Given the description of an element on the screen output the (x, y) to click on. 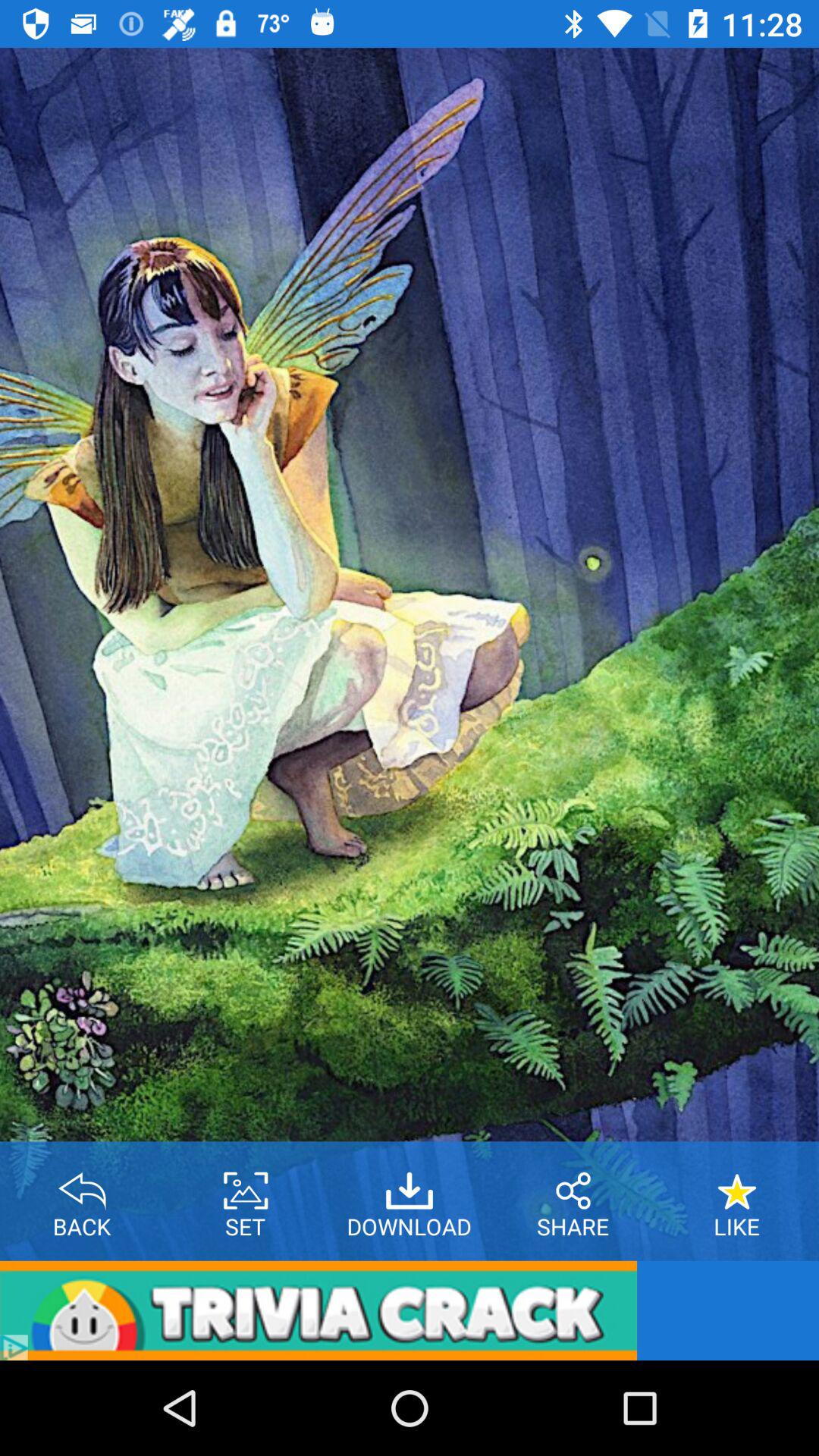
download option (409, 1185)
